Given the description of an element on the screen output the (x, y) to click on. 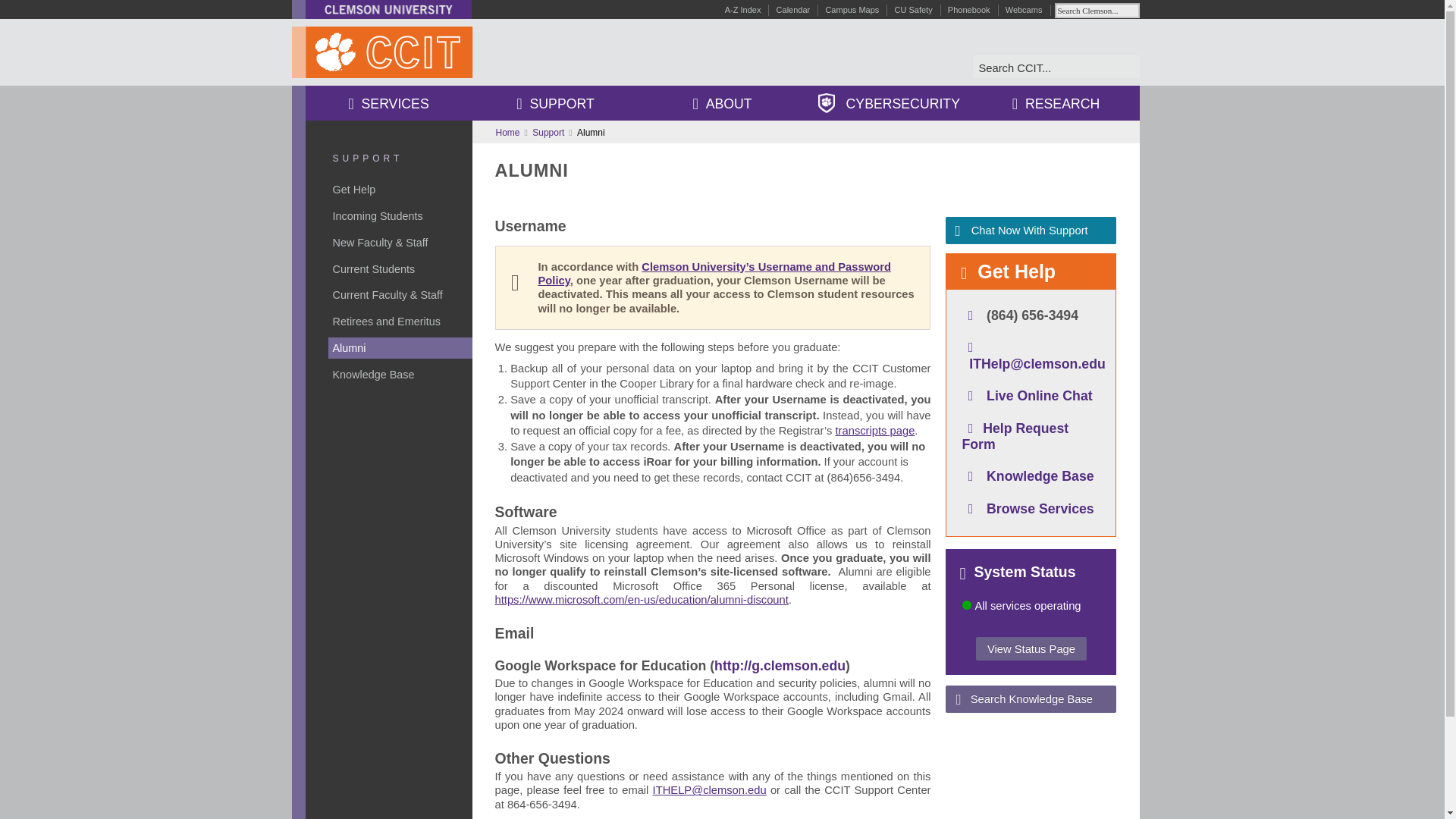
SUPPORT (367, 158)
CCIT Support Center Email (709, 789)
Transcript Requests (875, 430)
Search Clemson... (1096, 10)
  ABOUT (722, 103)
Incoming Students (399, 215)
Calendar (793, 9)
Current Students (399, 269)
Phonebook (968, 9)
  SUPPORT (555, 103)
CU Safety (914, 9)
  SERVICES (387, 103)
  CYBERSECURITY (888, 103)
Campus Maps (852, 9)
UserID and Password Policy (714, 273)
